Given the description of an element on the screen output the (x, y) to click on. 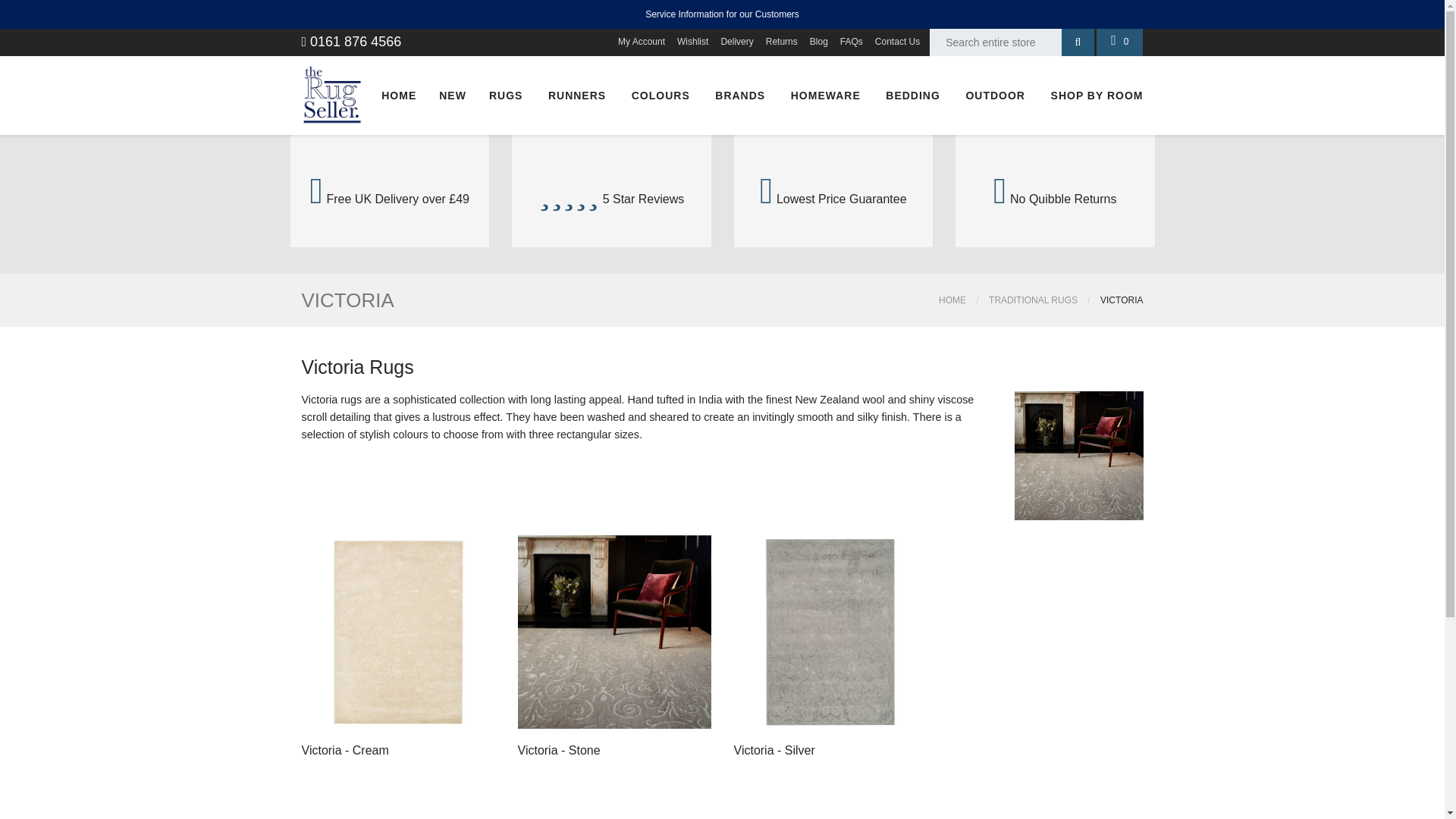
Returns (780, 41)
Service Information for our Customers (722, 14)
Contact Us (896, 41)
FAQs (851, 41)
0 (1119, 42)
Wishlist (692, 41)
My Account (640, 41)
Delivery (736, 41)
0161 876 4566 (351, 41)
